Given the description of an element on the screen output the (x, y) to click on. 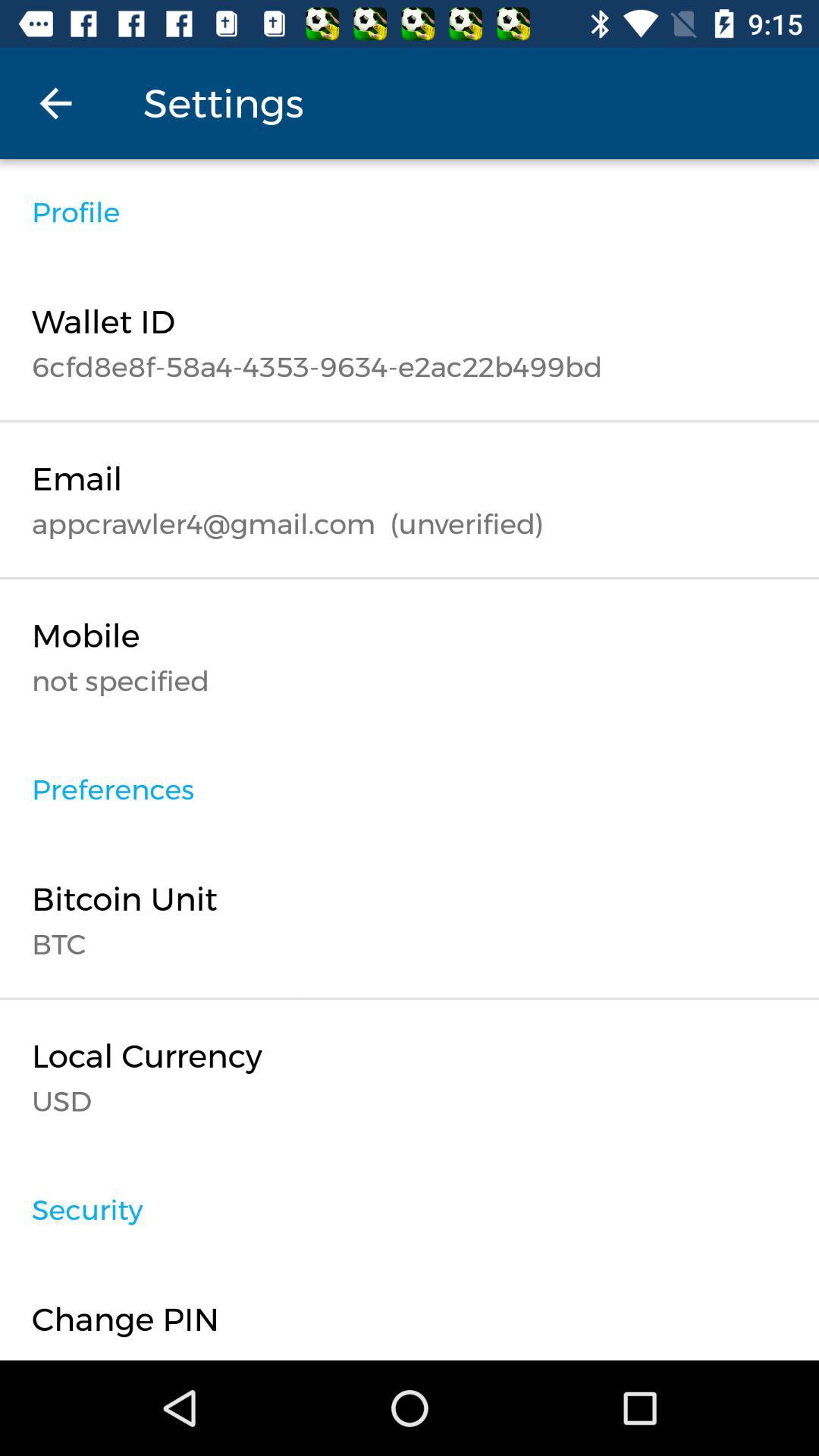
launch icon above the profile icon (55, 103)
